Given the description of an element on the screen output the (x, y) to click on. 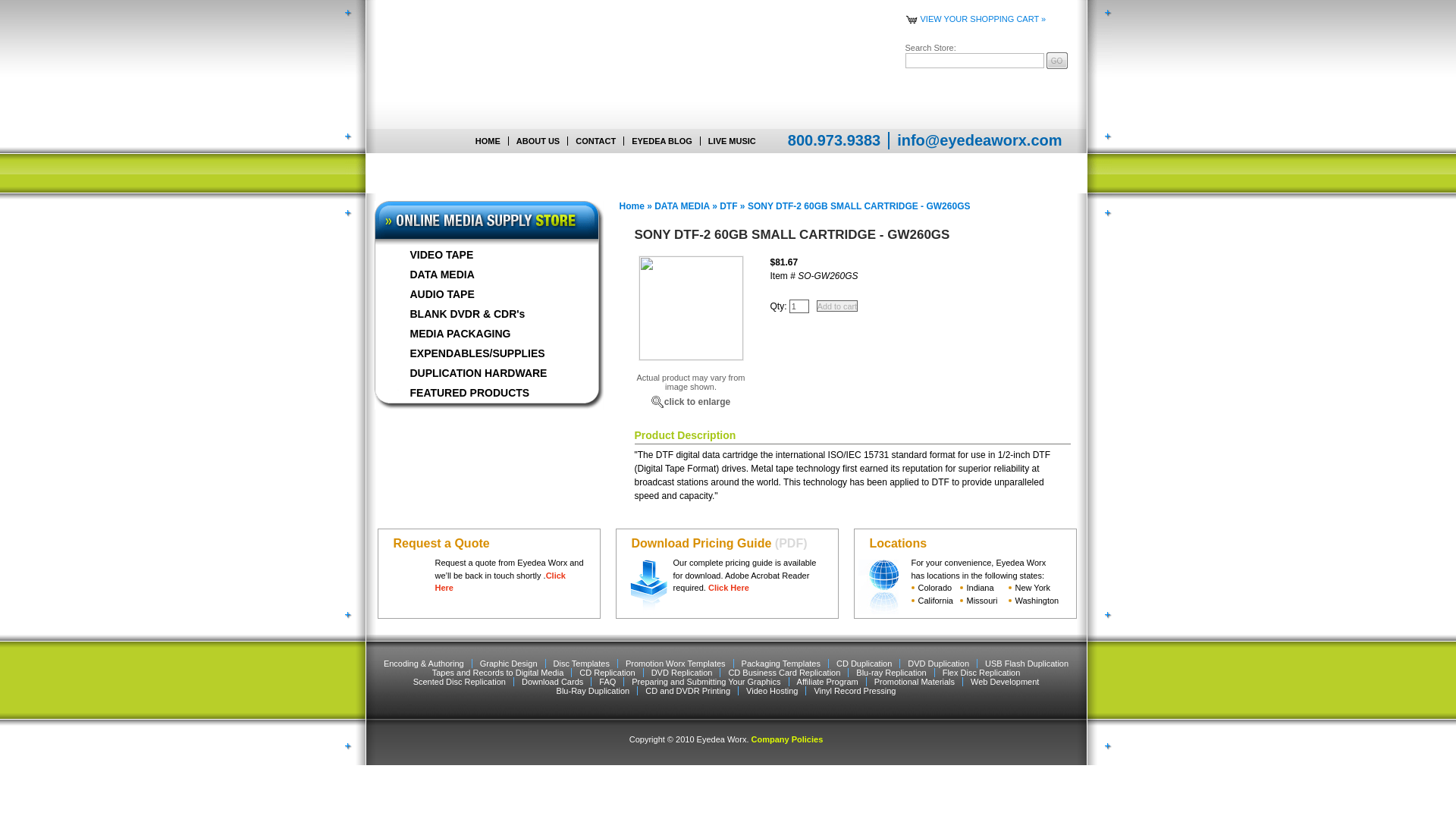
CONTACT (595, 140)
FEATURED PRODUCTS (486, 392)
1 (799, 305)
Add to cart (836, 306)
Eyedea Worx - We make your ideas optical (462, 64)
USB Flash (616, 173)
Video Hosting (746, 173)
Replication (549, 173)
Design (800, 173)
DUPLICATION HARDWARE (486, 373)
